Given the description of an element on the screen output the (x, y) to click on. 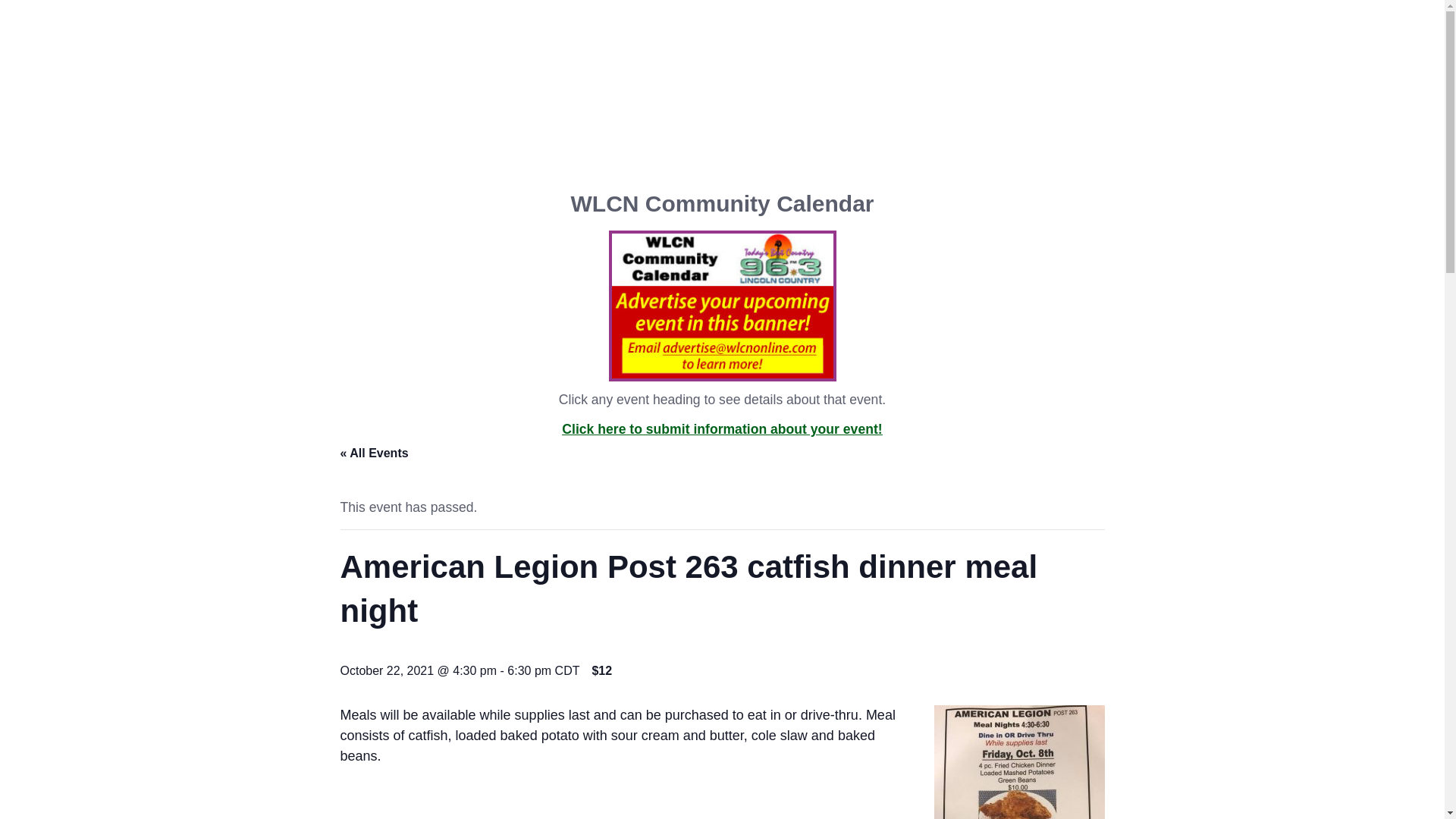
Community Calendar (668, 112)
Home (427, 112)
Click here to submit information about your event! (722, 428)
Search Toggle (70, 76)
About WLCN (980, 112)
WLCN 96.3 FM (717, 42)
